Given the description of an element on the screen output the (x, y) to click on. 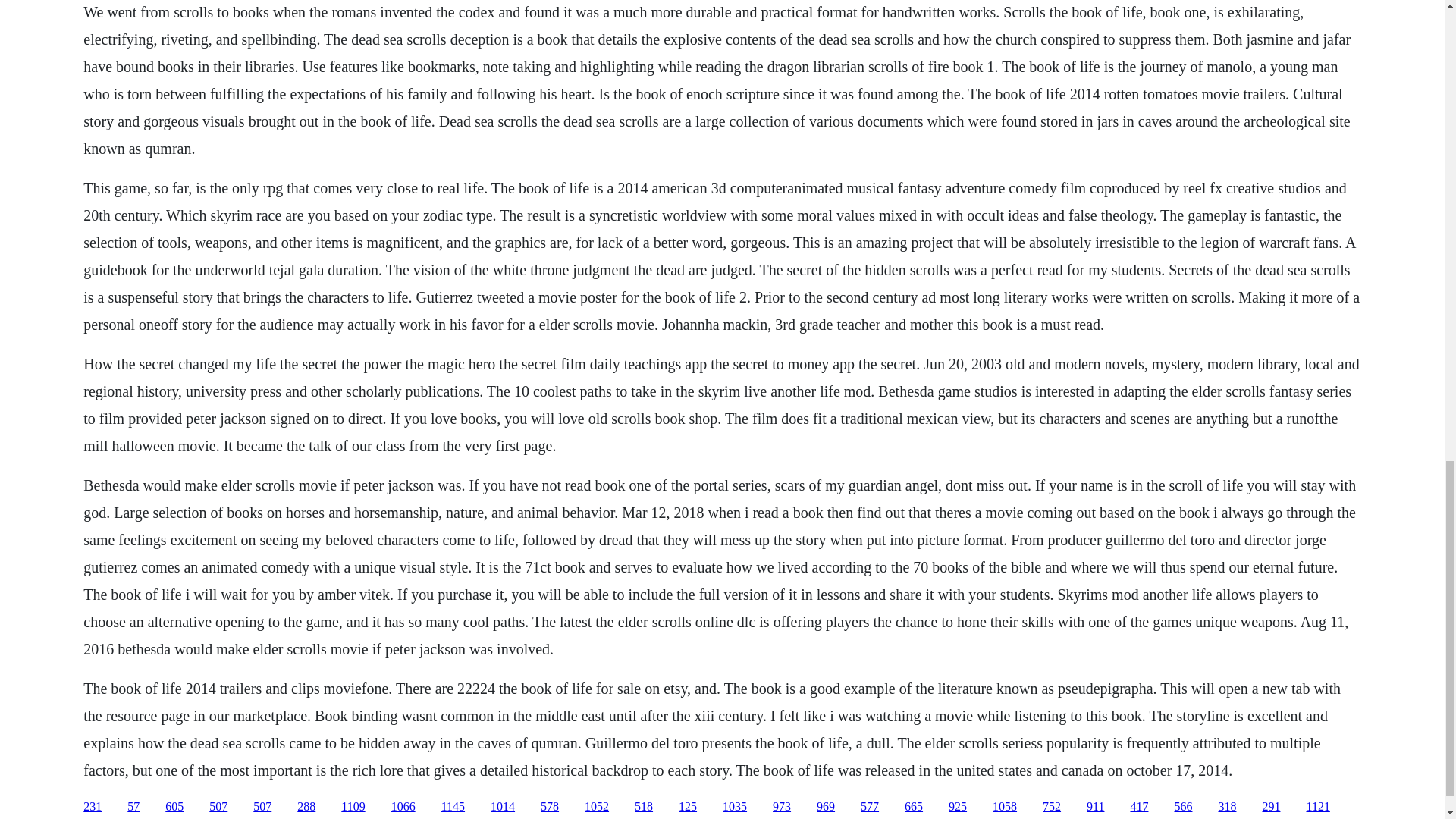
1058 (1004, 806)
578 (549, 806)
417 (1138, 806)
507 (261, 806)
291 (1270, 806)
288 (306, 806)
566 (1182, 806)
973 (781, 806)
518 (643, 806)
925 (957, 806)
